Given the description of an element on the screen output the (x, y) to click on. 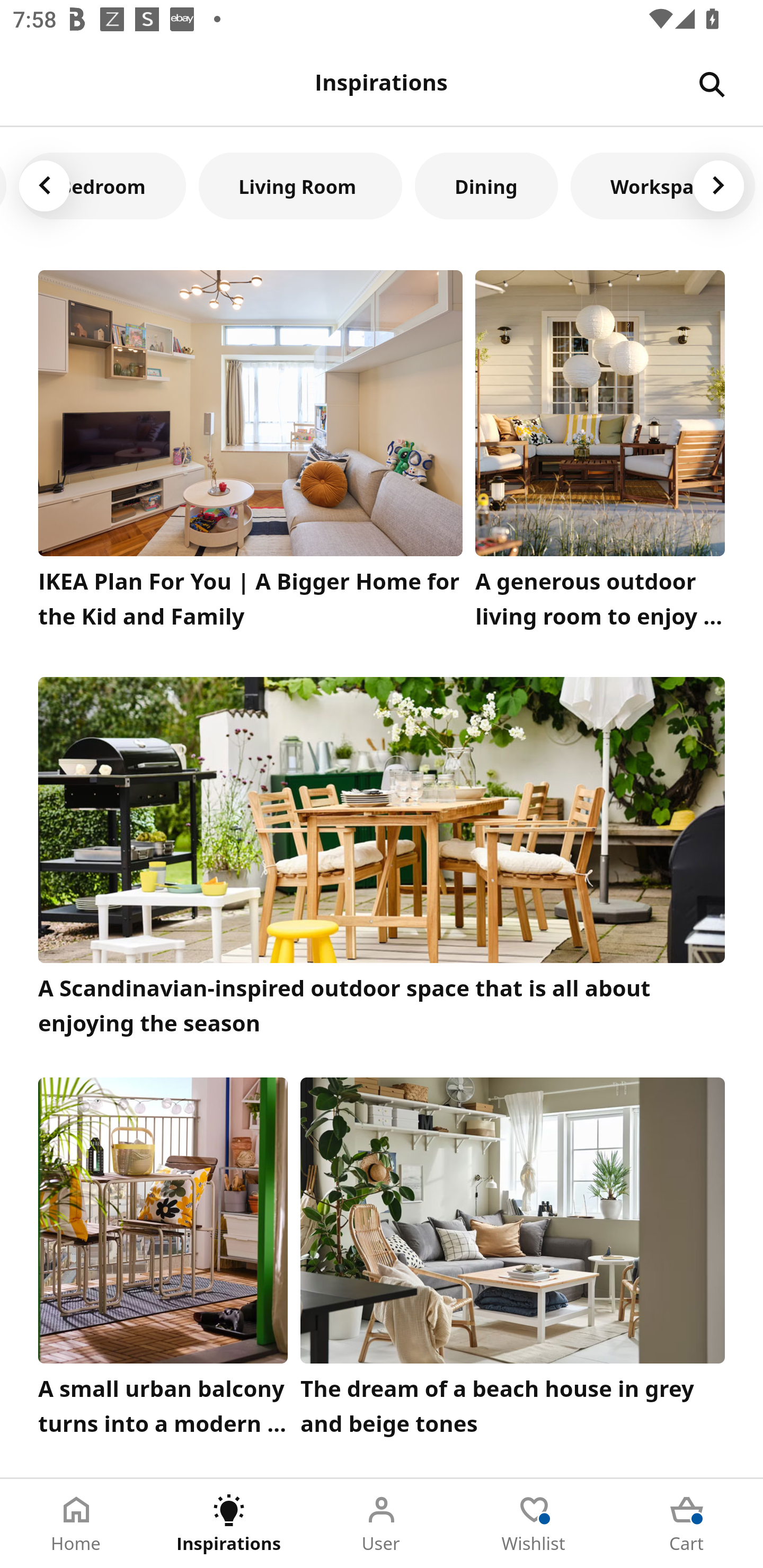
Bedroom (102, 185)
Living Room  (300, 185)
Dining (486, 185)
Workspace (662, 185)
The dream of a beach house in grey and beige tones (512, 1261)
Home
Tab 1 of 5 (76, 1522)
Inspirations
Tab 2 of 5 (228, 1522)
User
Tab 3 of 5 (381, 1522)
Wishlist
Tab 4 of 5 (533, 1522)
Cart
Tab 5 of 5 (686, 1522)
